Given the description of an element on the screen output the (x, y) to click on. 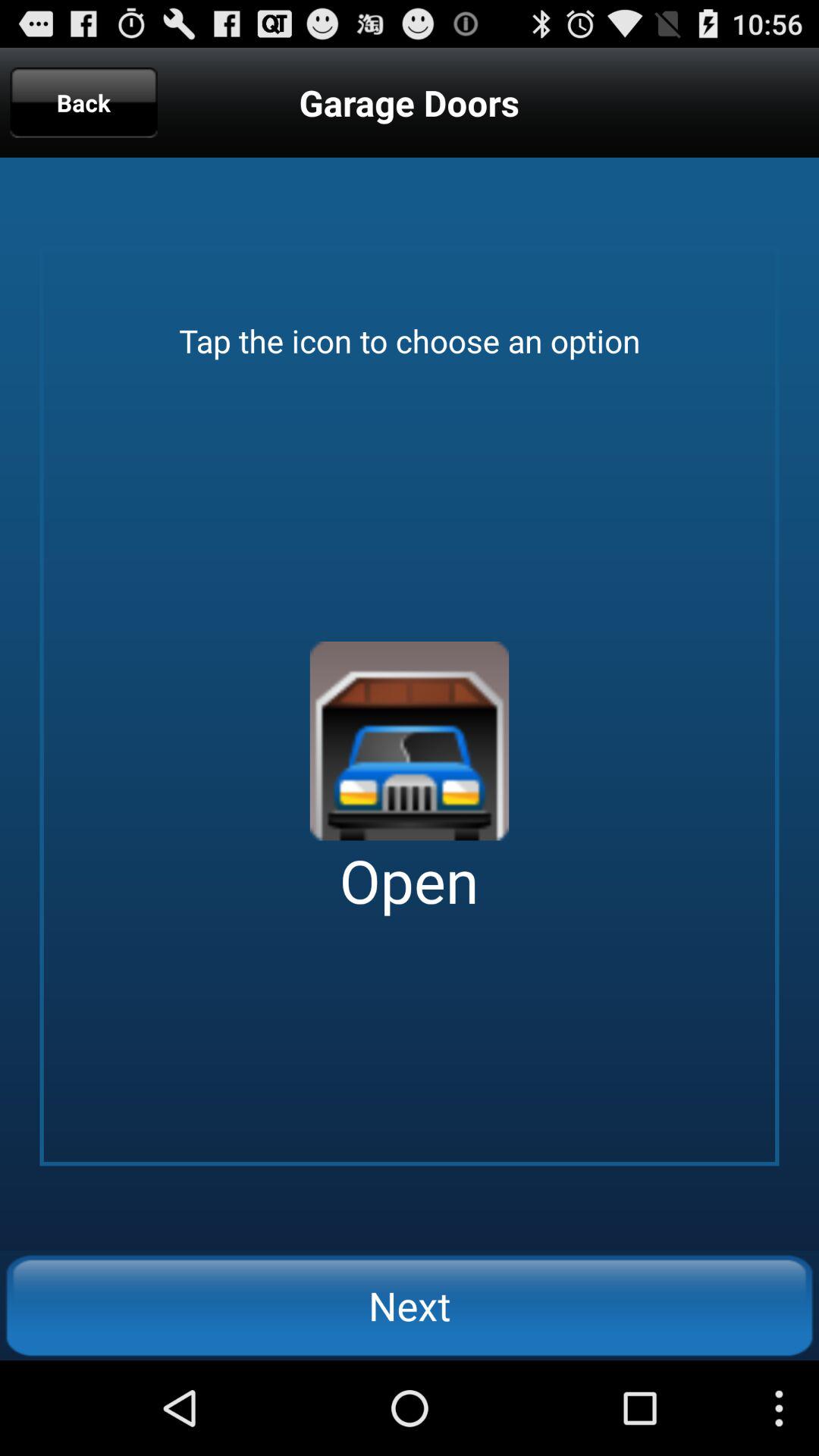
scroll until the next icon (409, 1305)
